Given the description of an element on the screen output the (x, y) to click on. 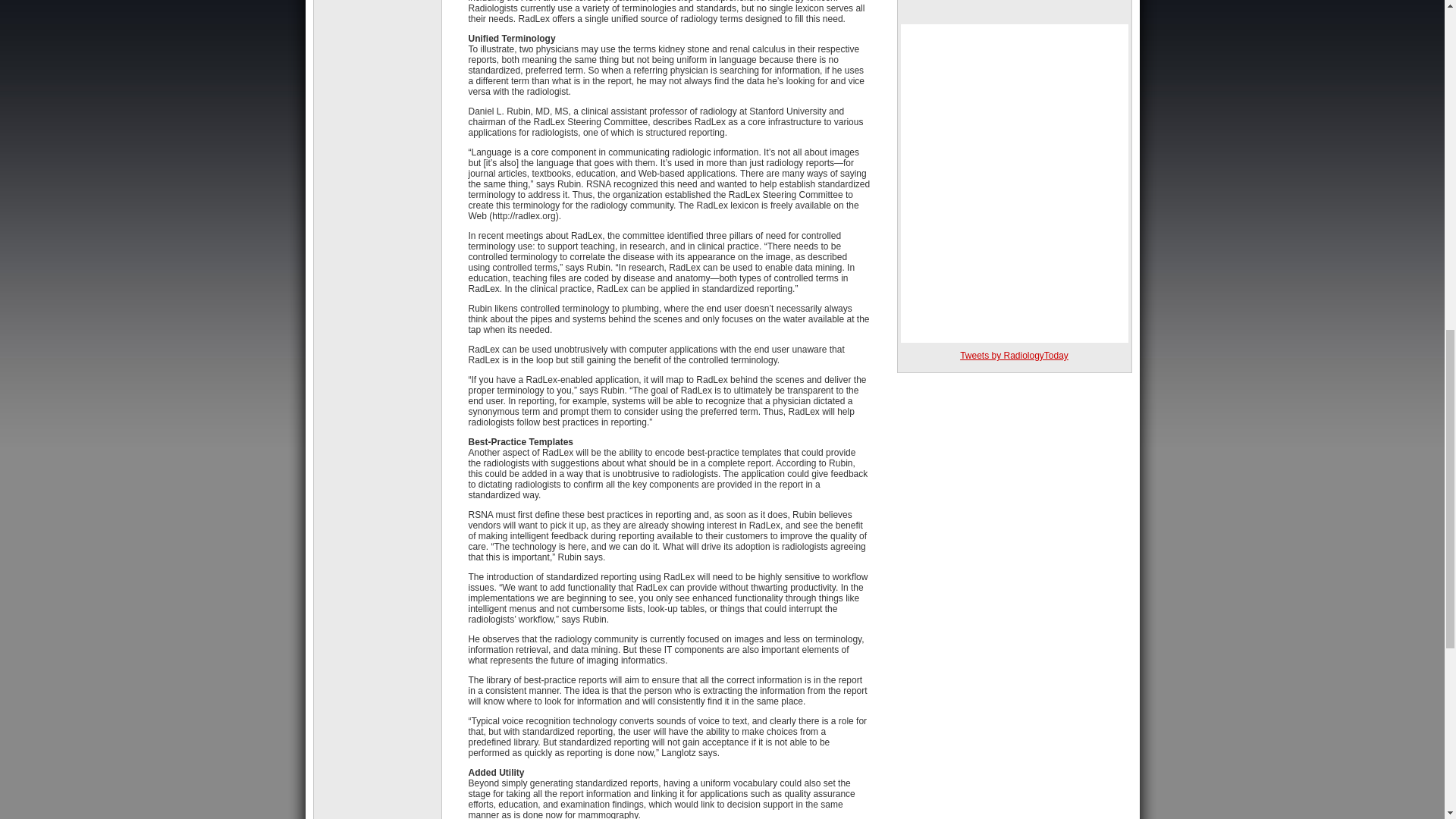
Tweets by RadiologyToday (1013, 355)
3rd party ad content (1014, 8)
